Given the description of an element on the screen output the (x, y) to click on. 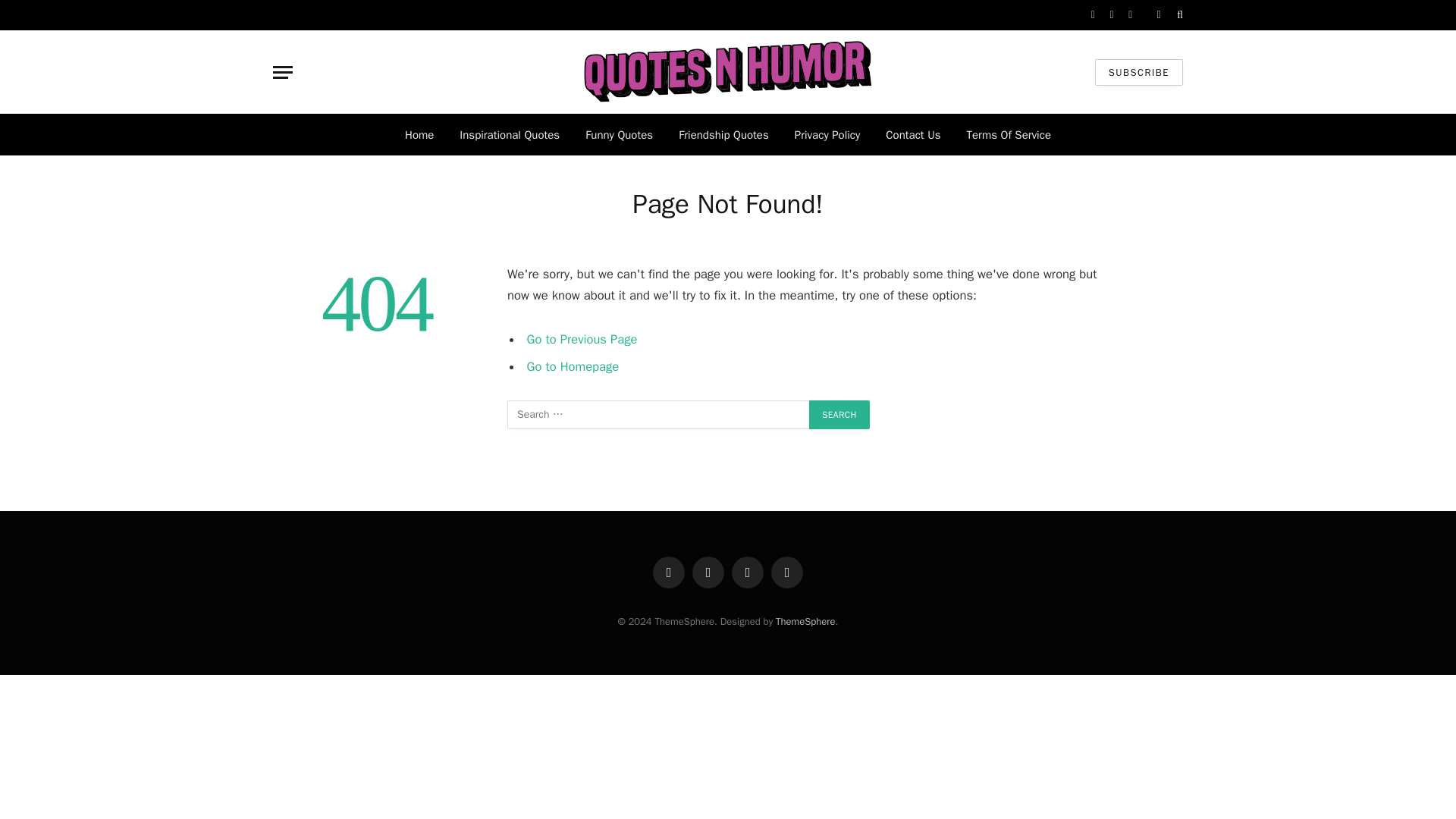
Switch to Dark Design - easier on eyes. (1158, 14)
Home (418, 134)
Search (1177, 15)
SUBSCRIBE (1138, 71)
Instagram (1129, 15)
Funny Quotes (618, 134)
Go to Homepage (573, 365)
ThemeSphere (805, 621)
Contact Us (912, 134)
Search (839, 414)
Facebook (1093, 15)
Instagram (747, 572)
Search (839, 414)
Friendship Quotes (723, 134)
Privacy Policy (827, 134)
